Given the description of an element on the screen output the (x, y) to click on. 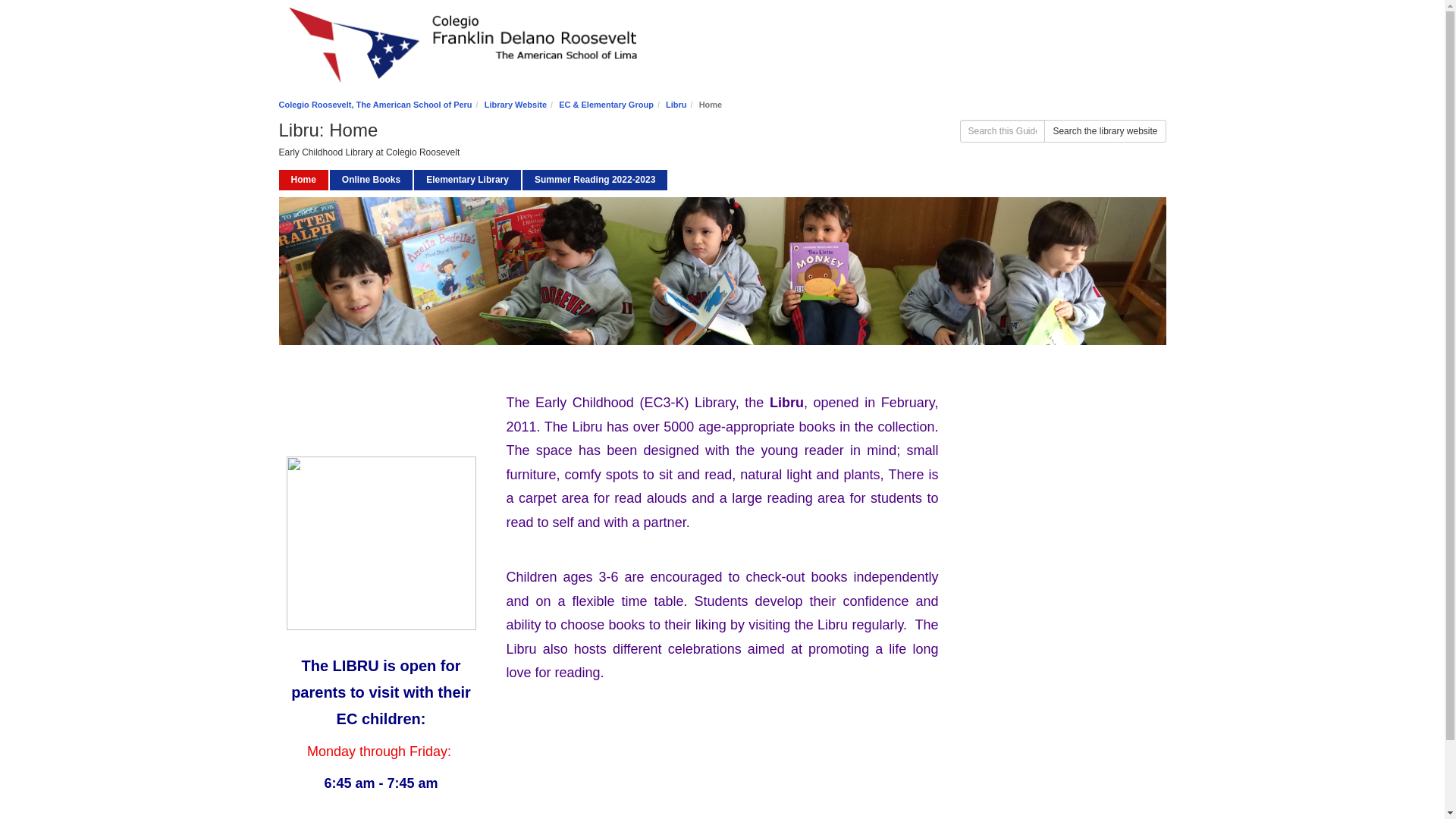
Summer Reading 2022-2023 (594, 179)
Search the library website (1104, 130)
Colegio Roosevelt, The American School of Peru (375, 103)
Libru (676, 103)
Home (304, 179)
Online Books (371, 179)
Library Website (467, 179)
